Given the description of an element on the screen output the (x, y) to click on. 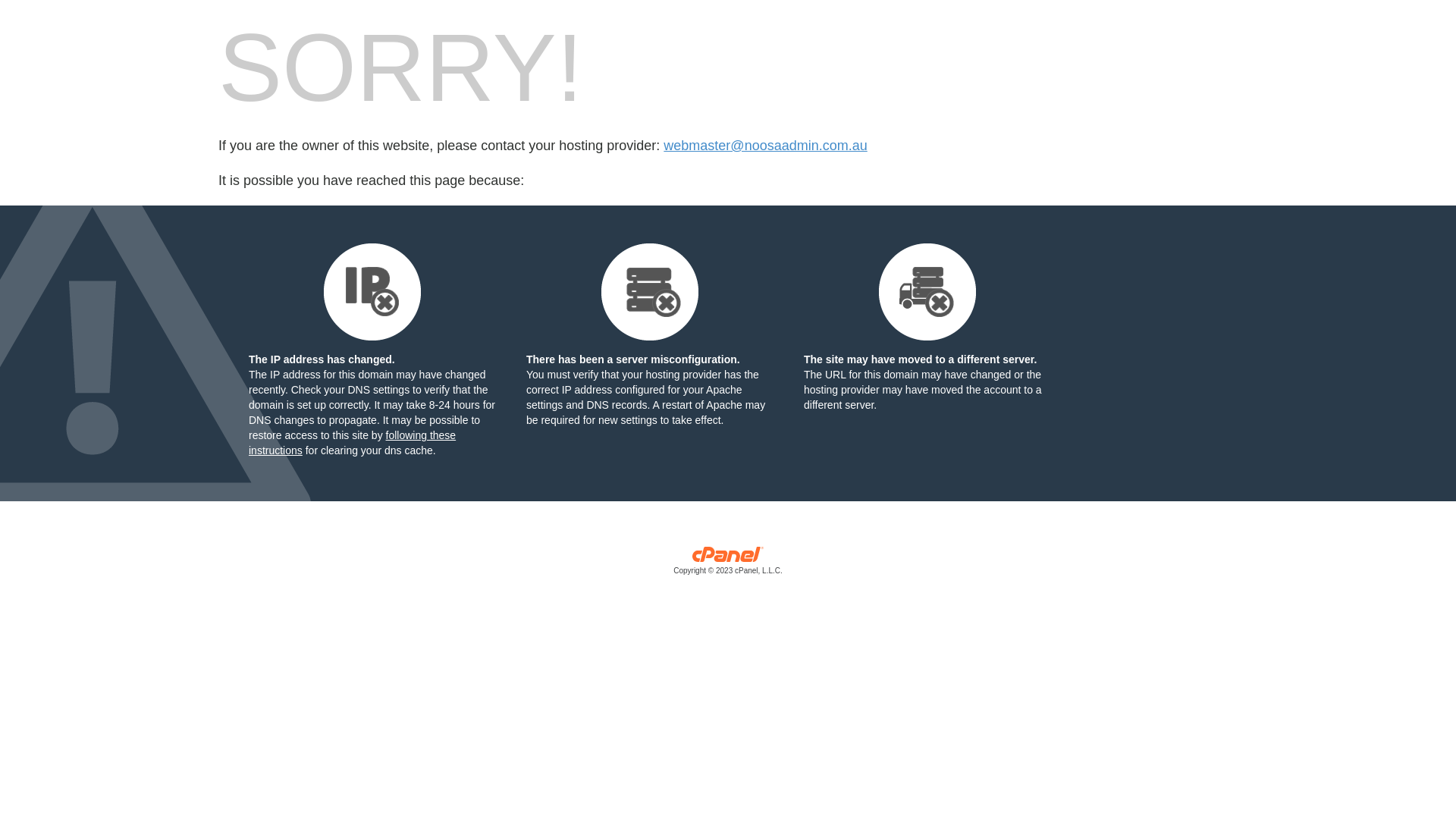
following these instructions Element type: text (351, 442)
webmaster@noosaadmin.com.au Element type: text (764, 145)
